Given the description of an element on the screen output the (x, y) to click on. 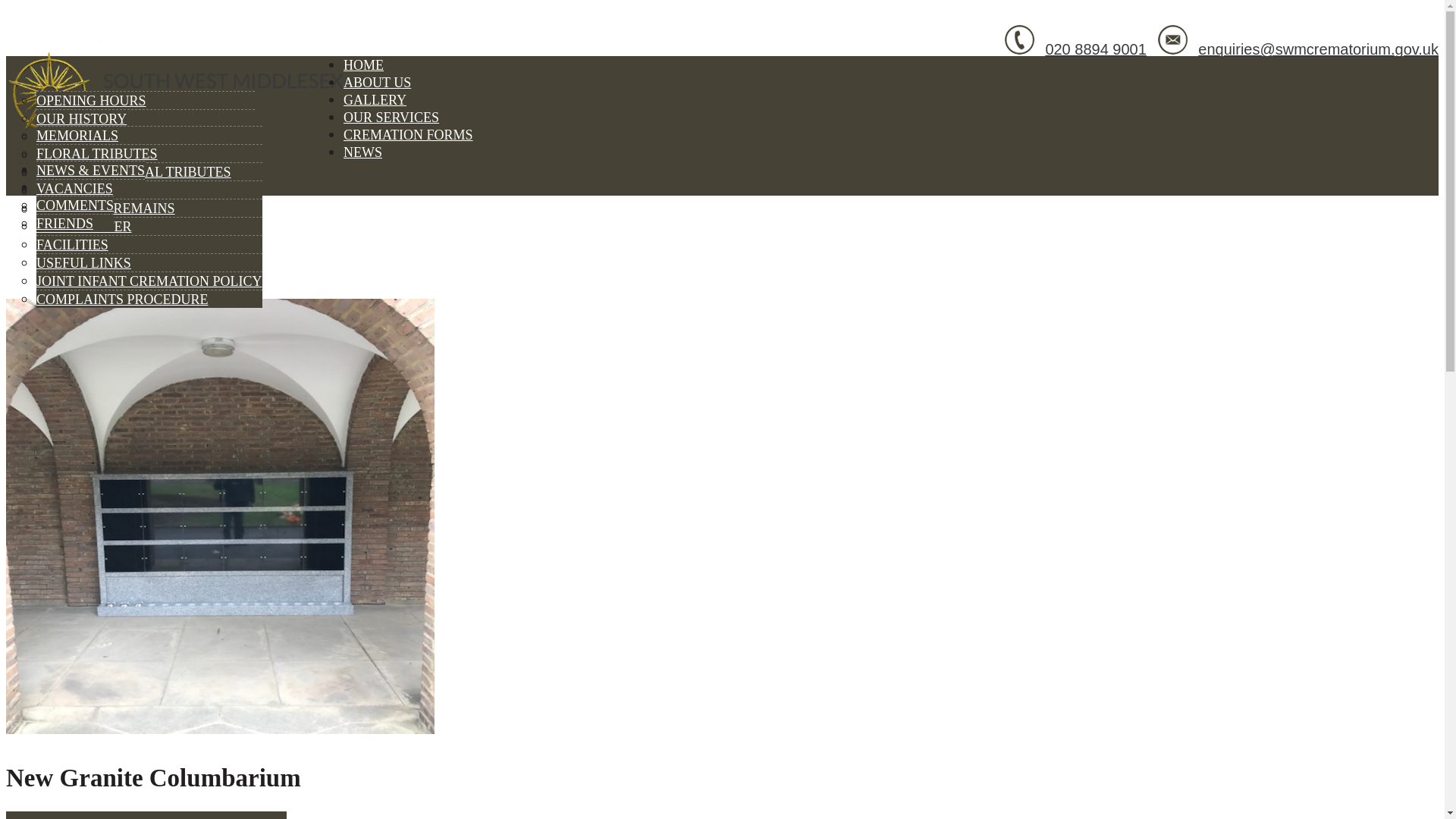
FACILITIES (71, 244)
Our History (81, 118)
THE ENVIRONMENT (100, 173)
JOINT INFANT CREMATION POLICY (149, 281)
MEMORIALS (76, 135)
020 8894 9001 (1095, 48)
CREMATED REMAINS (105, 208)
VACANCIES (74, 188)
GALLERY (374, 99)
FRIENDS (64, 223)
CURRENT BOARD MEMBERS (128, 209)
Map of the Grounds (111, 155)
COMMENTS (74, 205)
COMPLAINTS PROCEDURE (122, 299)
Opening Hours (91, 100)
